Given the description of an element on the screen output the (x, y) to click on. 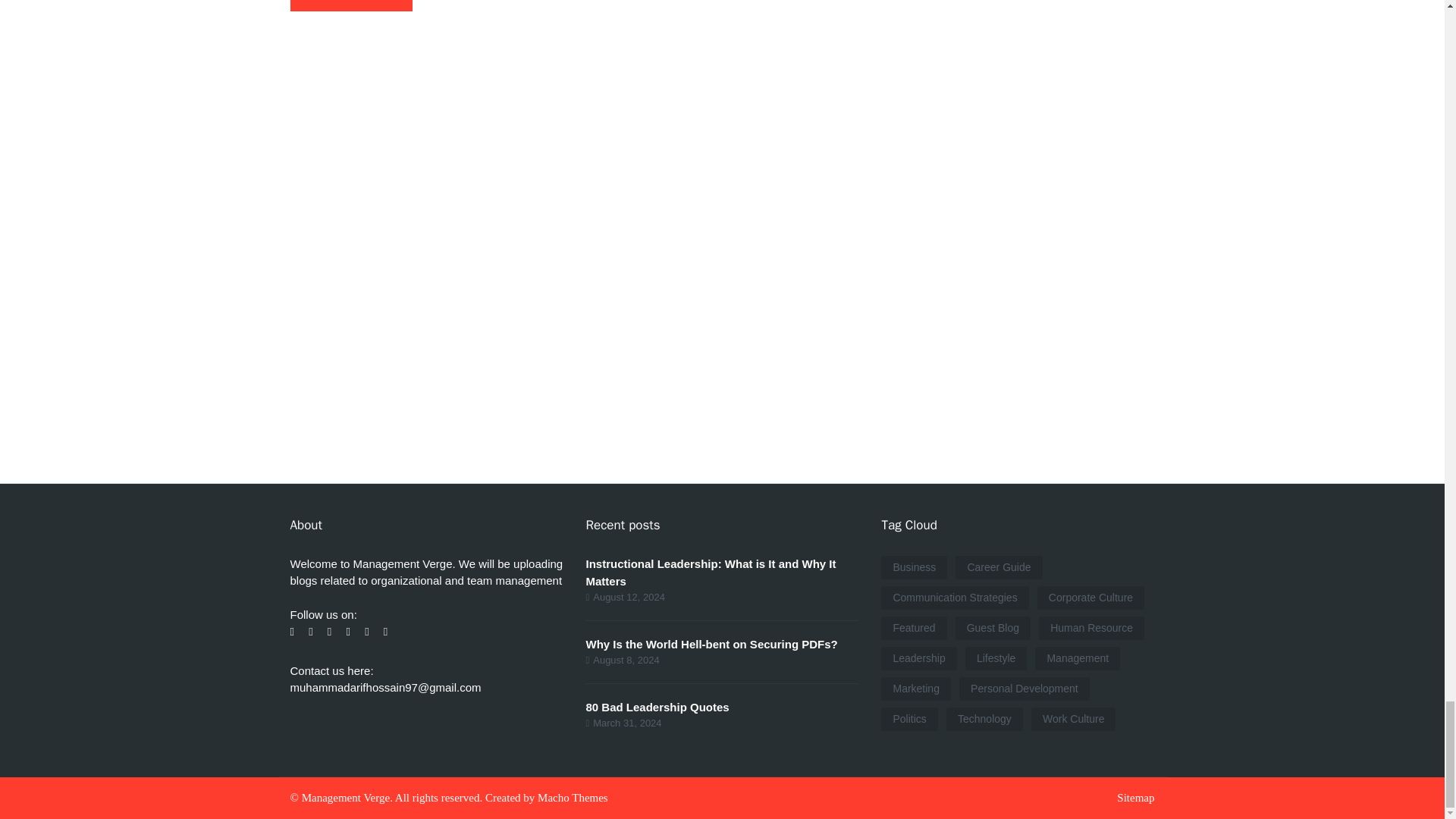
Professional WordPress Themes (572, 797)
Post Comment (350, 5)
Post Comment (350, 5)
